Given the description of an element on the screen output the (x, y) to click on. 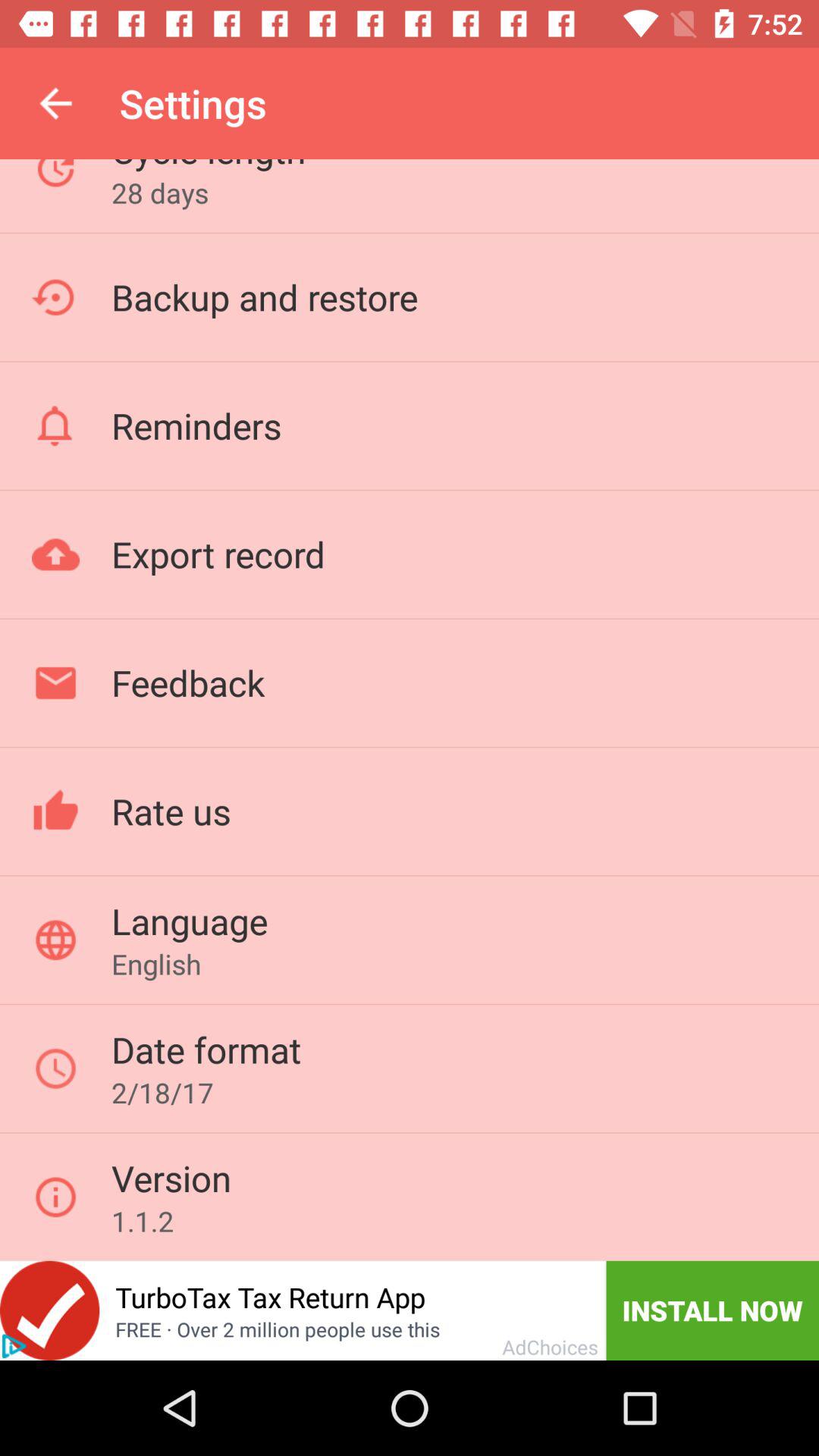
install (49, 1310)
